Given the description of an element on the screen output the (x, y) to click on. 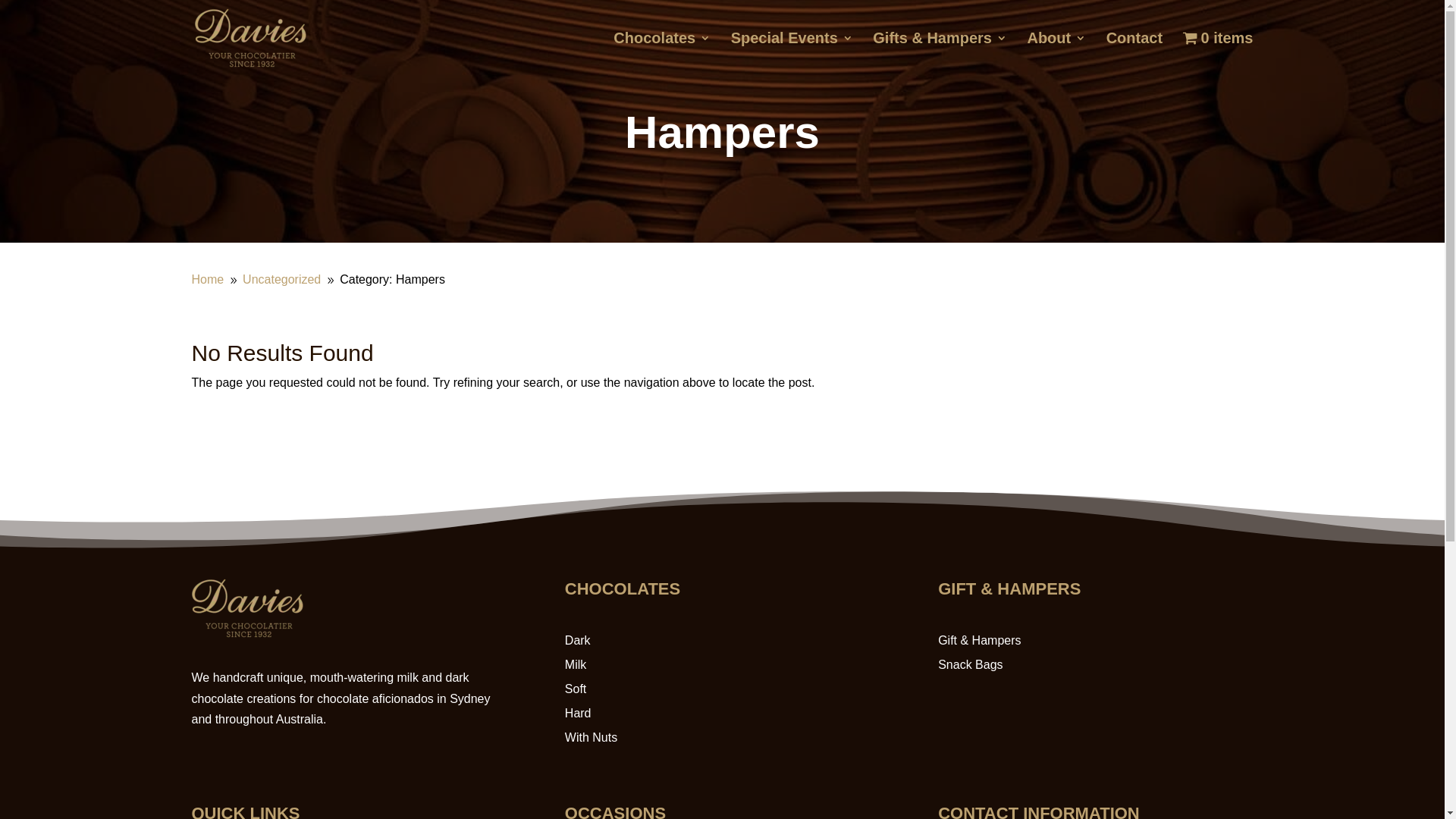
Hard Element type: text (577, 712)
Chocolates Element type: text (661, 52)
Gifts & Hampers Element type: text (939, 52)
Gift & Hampers Element type: text (979, 639)
Special Events Element type: text (792, 52)
Home Element type: text (207, 279)
Dark Element type: text (577, 639)
0 items Element type: text (1218, 52)
Uncategorized Element type: text (281, 279)
Soft Element type: text (575, 688)
With Nuts Element type: text (590, 737)
About Element type: text (1055, 52)
Snack Bags Element type: text (970, 664)
Milk Element type: text (575, 664)
Contact Element type: text (1134, 52)
logo Element type: hover (246, 633)
